Given the description of an element on the screen output the (x, y) to click on. 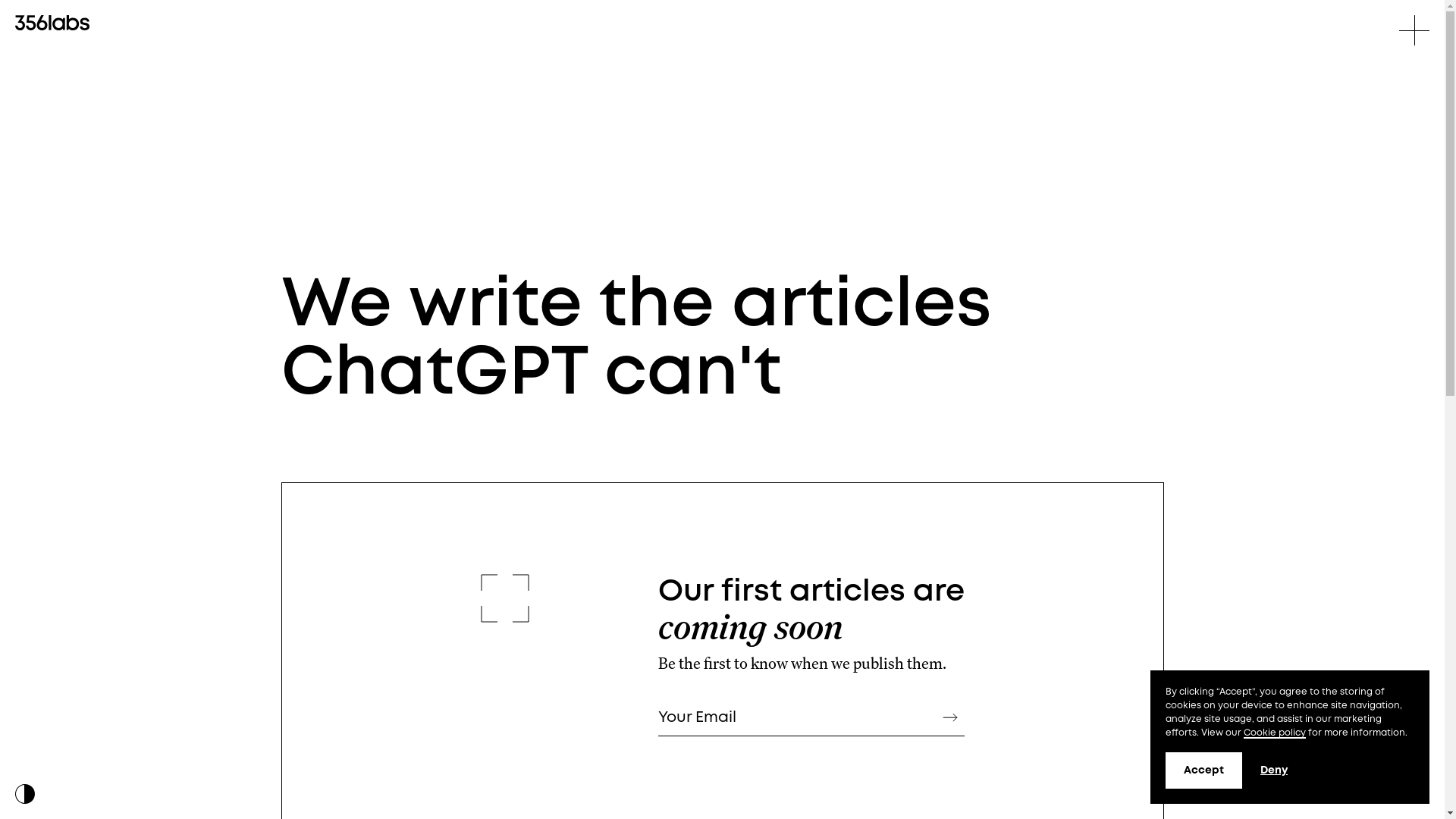
Cookie policy Element type: text (1274, 733)
Deny Element type: text (1273, 770)
Hire us Element type: text (1389, 786)
Accept Element type: text (1203, 770)
